Given the description of an element on the screen output the (x, y) to click on. 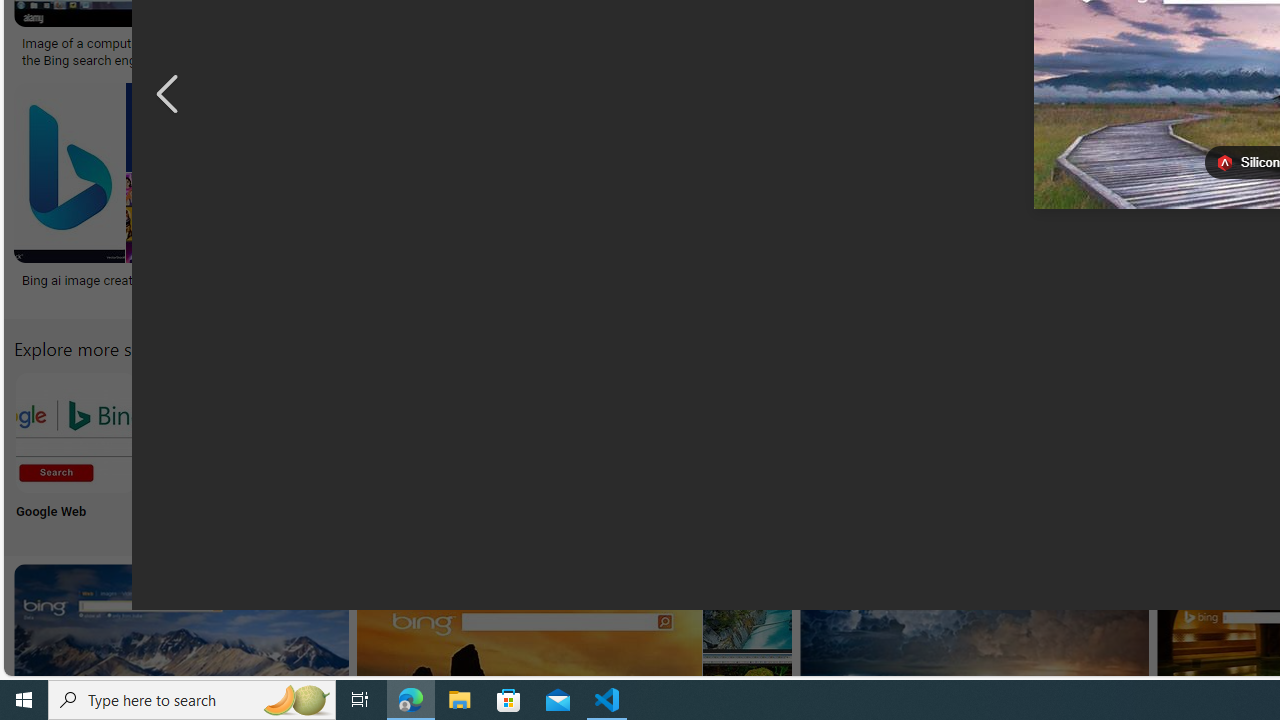
Bing Clip ART SEARCH (867, 432)
BingSave (647, 196)
Bing Clip ART SEARCH Clip Art (867, 450)
Google Web Search Bing (75, 432)
App Logo (207, 450)
Bing (644, 279)
